Given the description of an element on the screen output the (x, y) to click on. 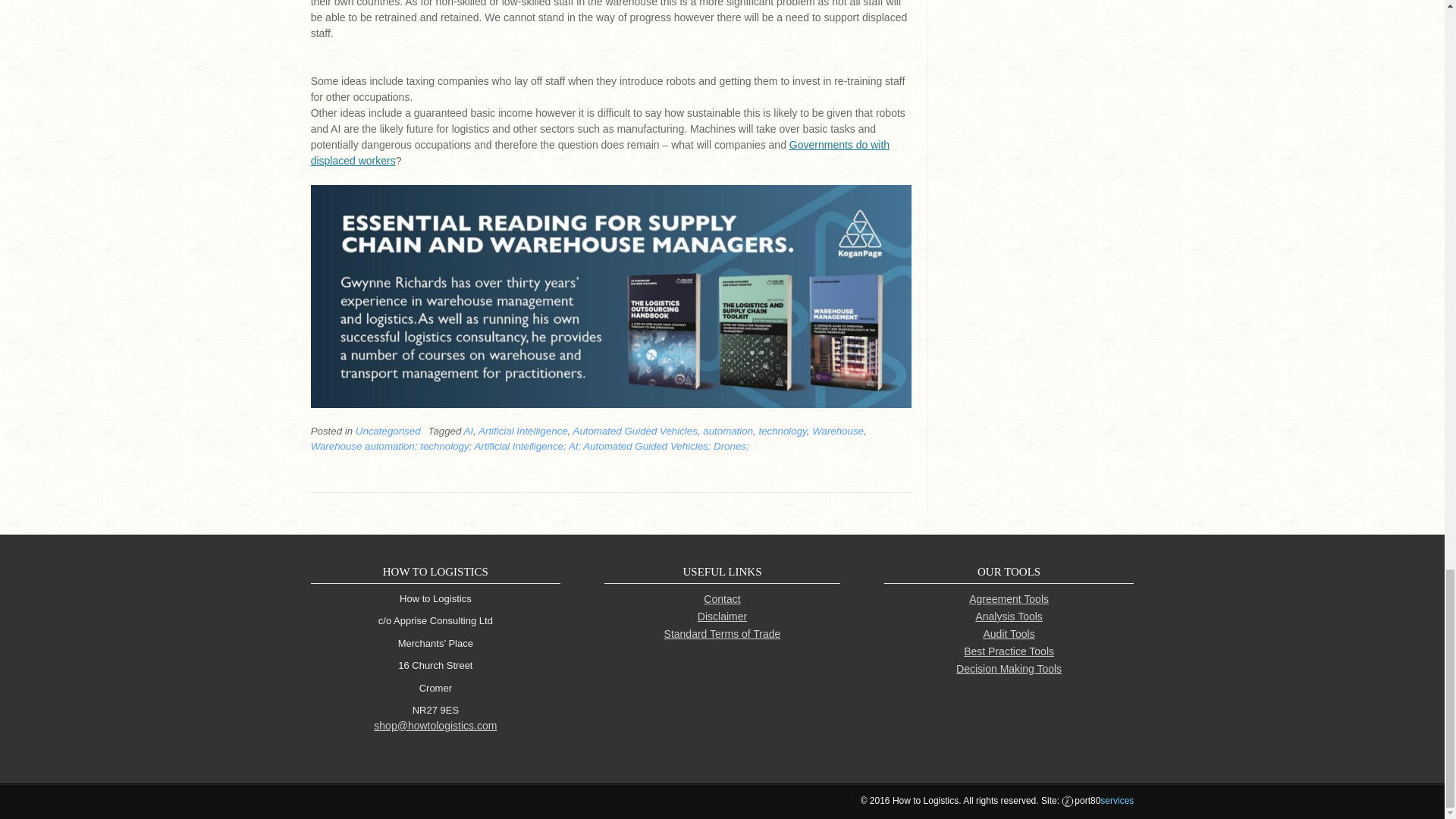
Standard Terms of Trade (721, 633)
technology (782, 430)
Agreement Tools (1008, 598)
Disclaimer (721, 616)
Automated Guided Vehicles (635, 430)
Uncategorised (387, 430)
AI (469, 430)
Contact (721, 598)
Governments do with displaced workers (600, 152)
Warehouse (837, 430)
Artificial Intelligence (523, 430)
automation (727, 430)
